Given the description of an element on the screen output the (x, y) to click on. 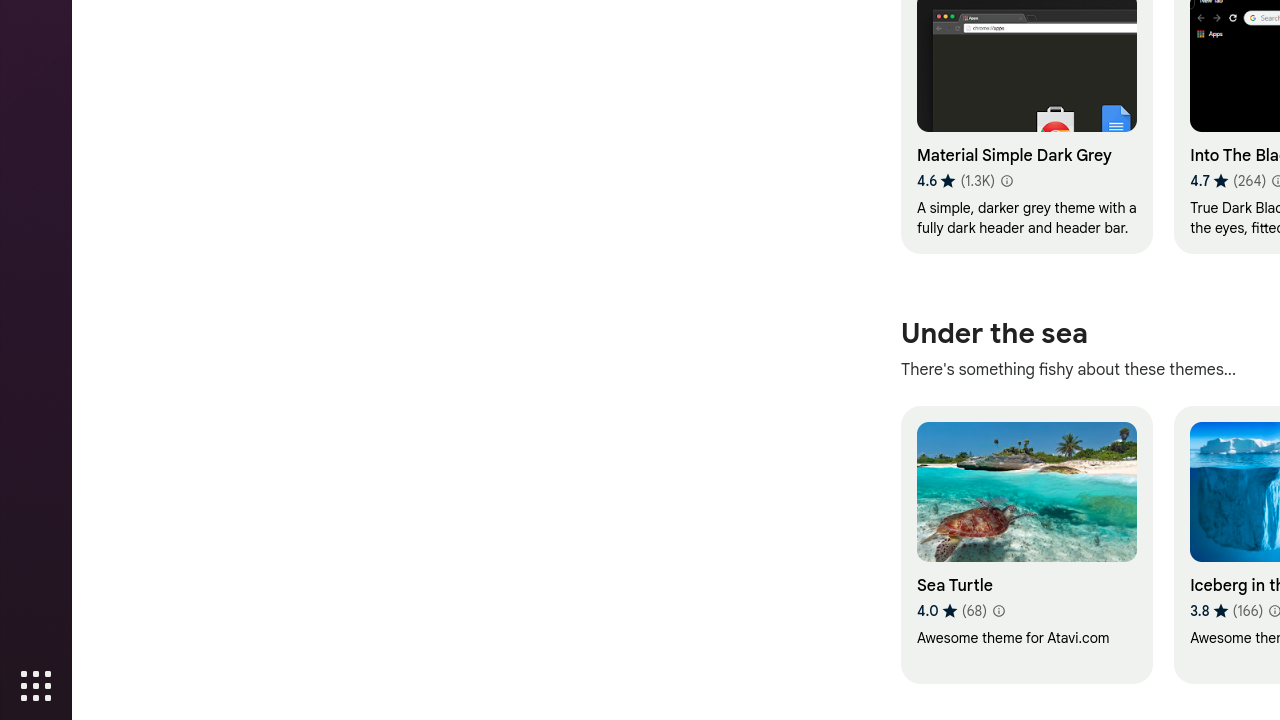
Learn more about results and reviews "Sea Turtle" Element type: push-button (998, 611)
Learn more about results and reviews "Iceberg in the Ocean" Element type: push-button (1274, 611)
Learn more about results and reviews "Material Simple Dark Grey" Element type: push-button (1006, 181)
Sea Turtle Element type: link (1026, 545)
Show Applications Element type: toggle-button (36, 686)
